Given the description of an element on the screen output the (x, y) to click on. 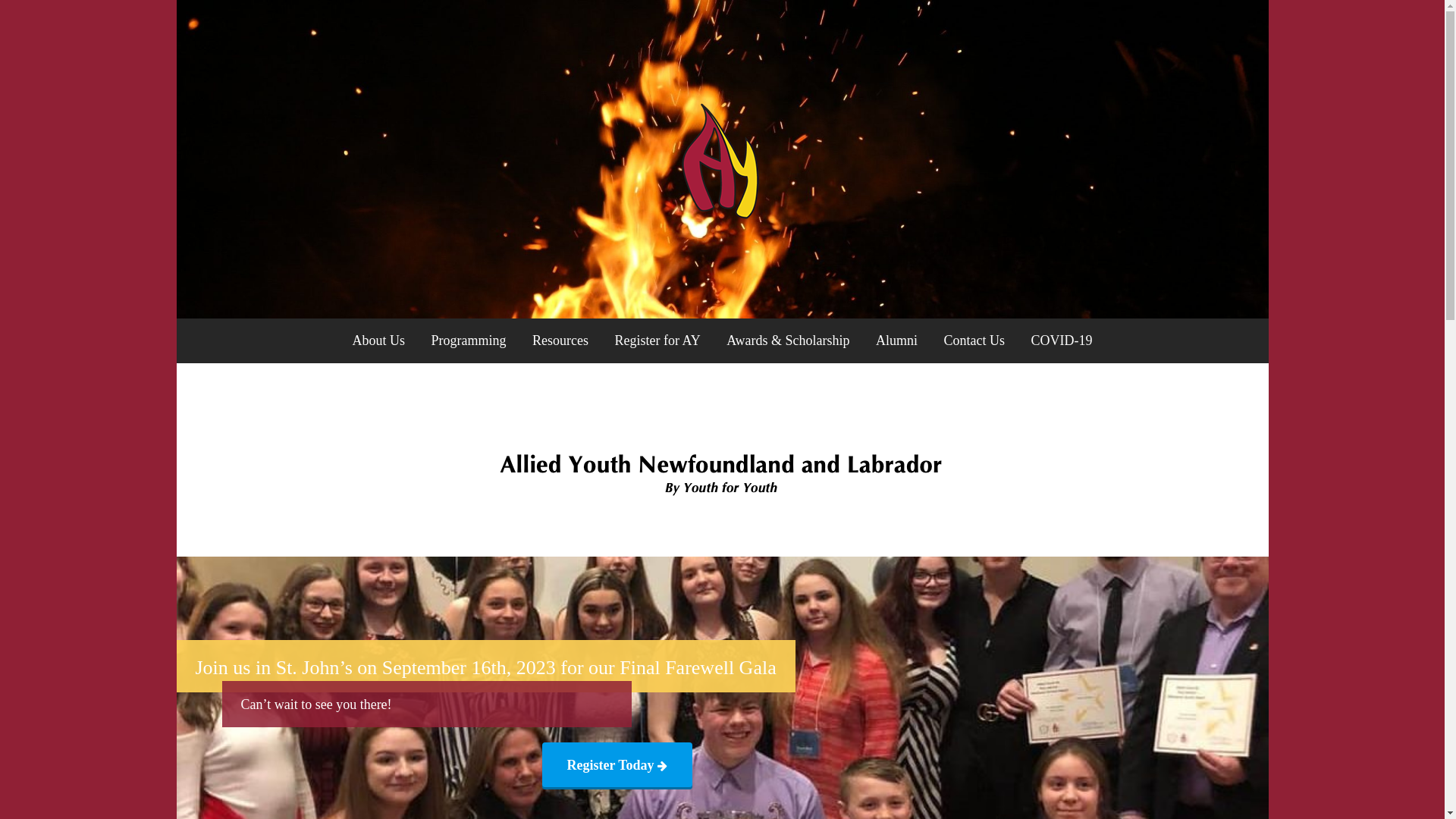
COVID-19 Element type: text (1061, 340)
Register for AY Element type: text (656, 340)
Resources Element type: text (559, 340)
Awards & Scholarship Element type: text (787, 340)
Programming Element type: text (468, 340)
Register Today Element type: text (616, 765)
Alumni Element type: text (896, 340)
Contact Us Element type: text (974, 340)
Go to Home Element type: hover (722, 214)
About Us Element type: text (378, 340)
